Given the description of an element on the screen output the (x, y) to click on. 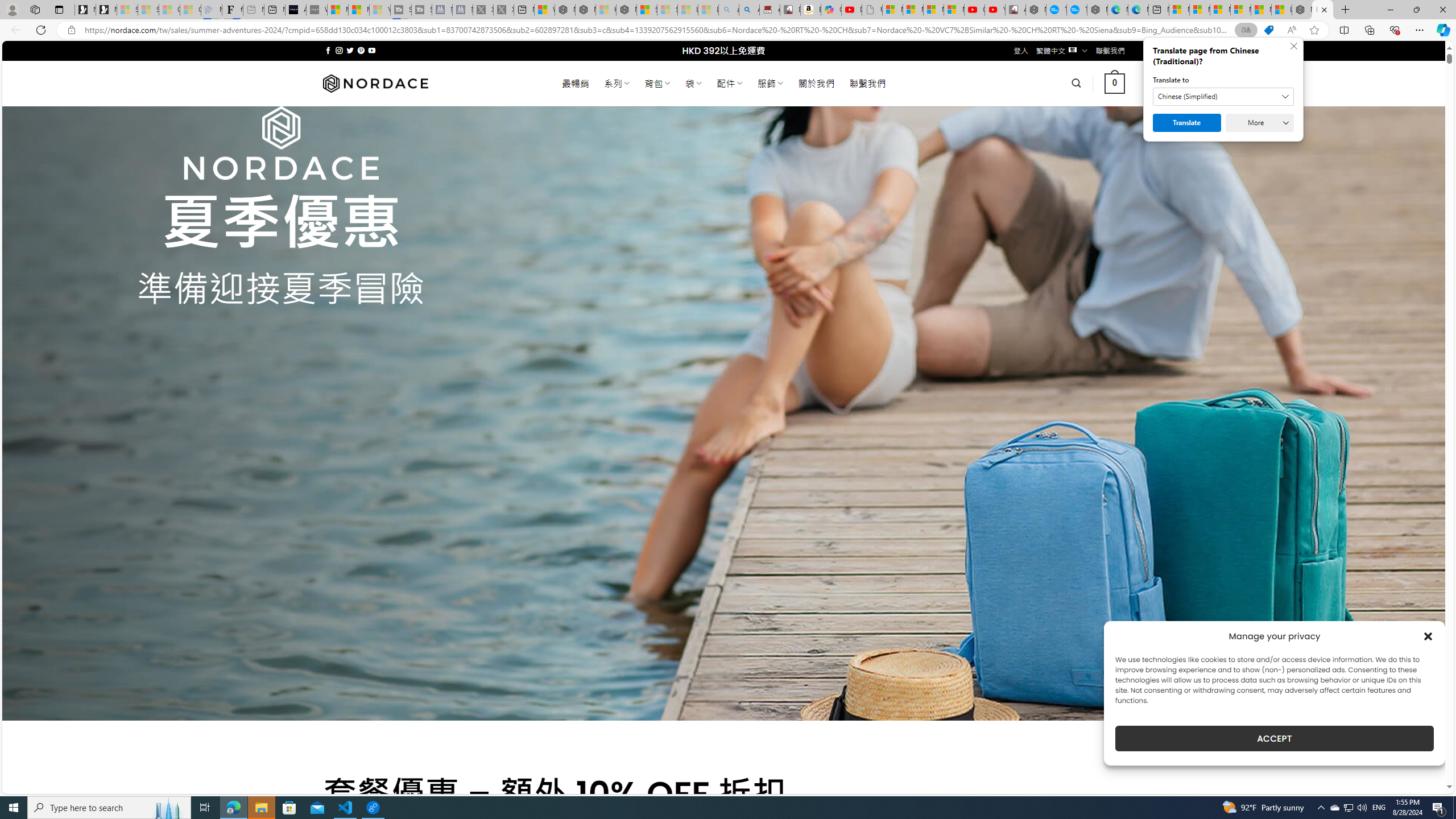
AI Voice Changer for PC and Mac - Voice.ai (296, 9)
Follow on YouTube (371, 50)
Follow on Instagram (338, 50)
  0   (1115, 83)
